Given the description of an element on the screen output the (x, y) to click on. 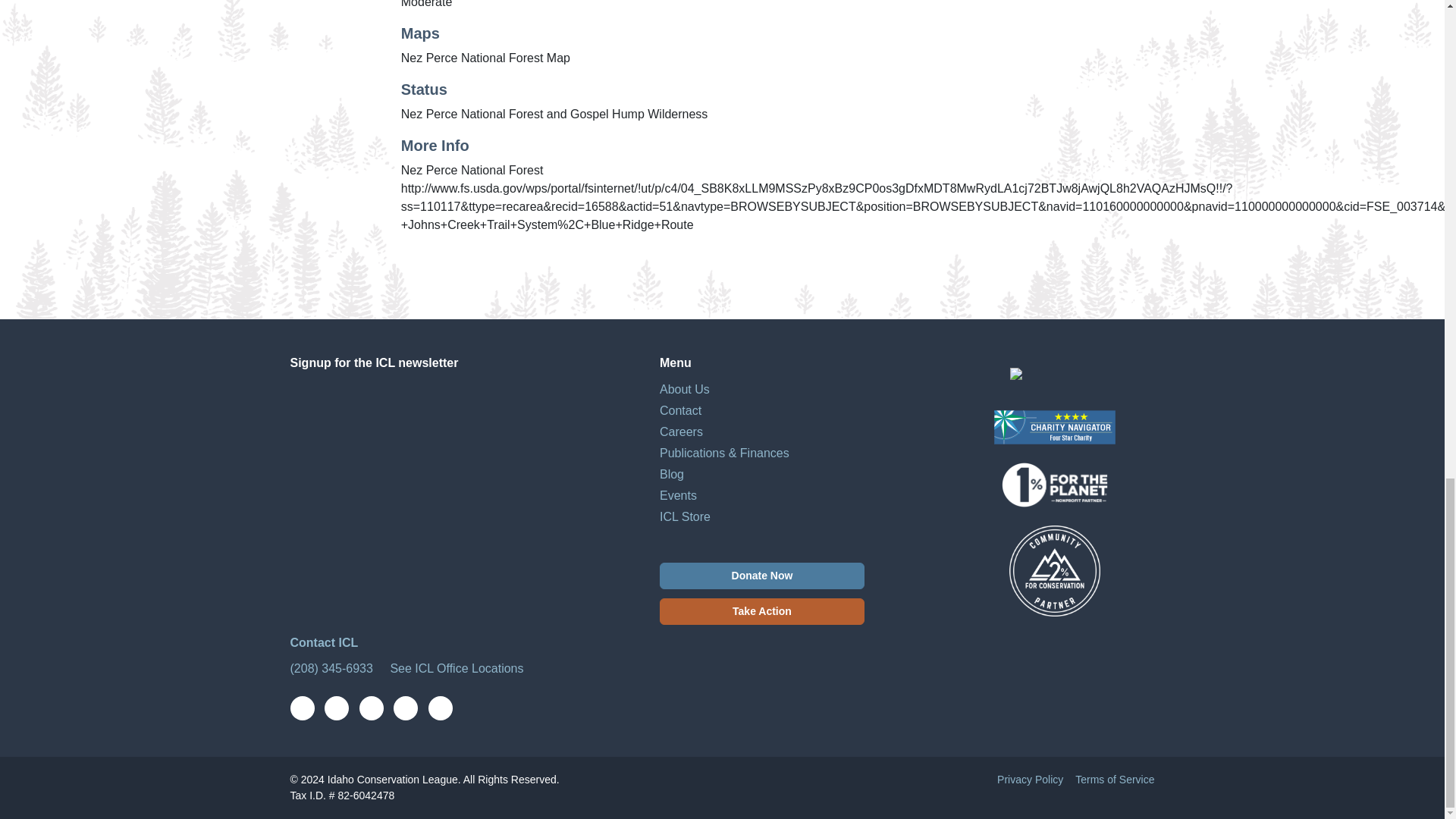
Blog (796, 475)
Contact (796, 411)
About Us (796, 389)
Contact ICL (323, 642)
Careers (796, 432)
See ICL Office Locations (455, 667)
ICL Store (796, 516)
Events (796, 495)
